Given the description of an element on the screen output the (x, y) to click on. 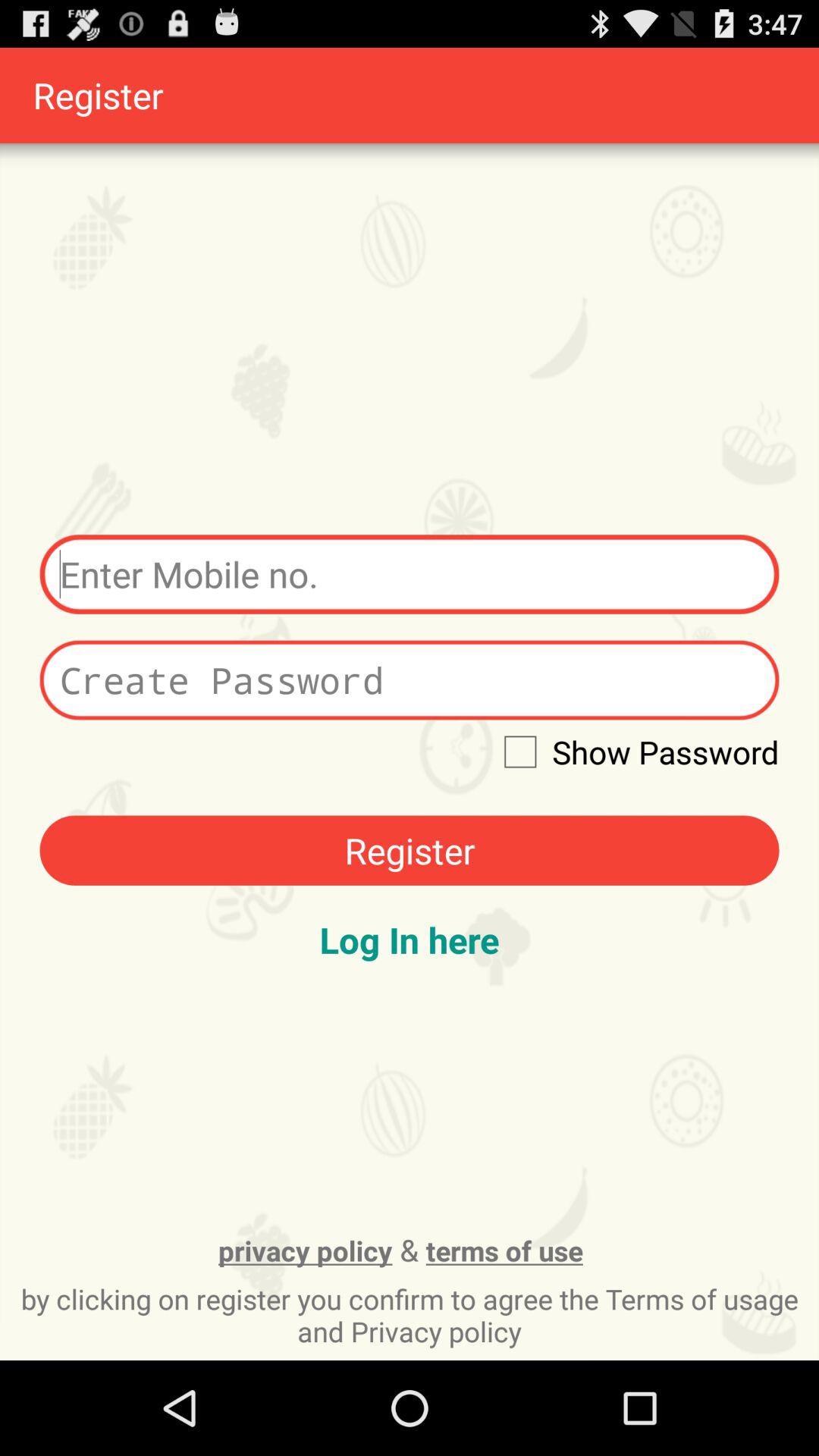
type the password (409, 680)
